Given the description of an element on the screen output the (x, y) to click on. 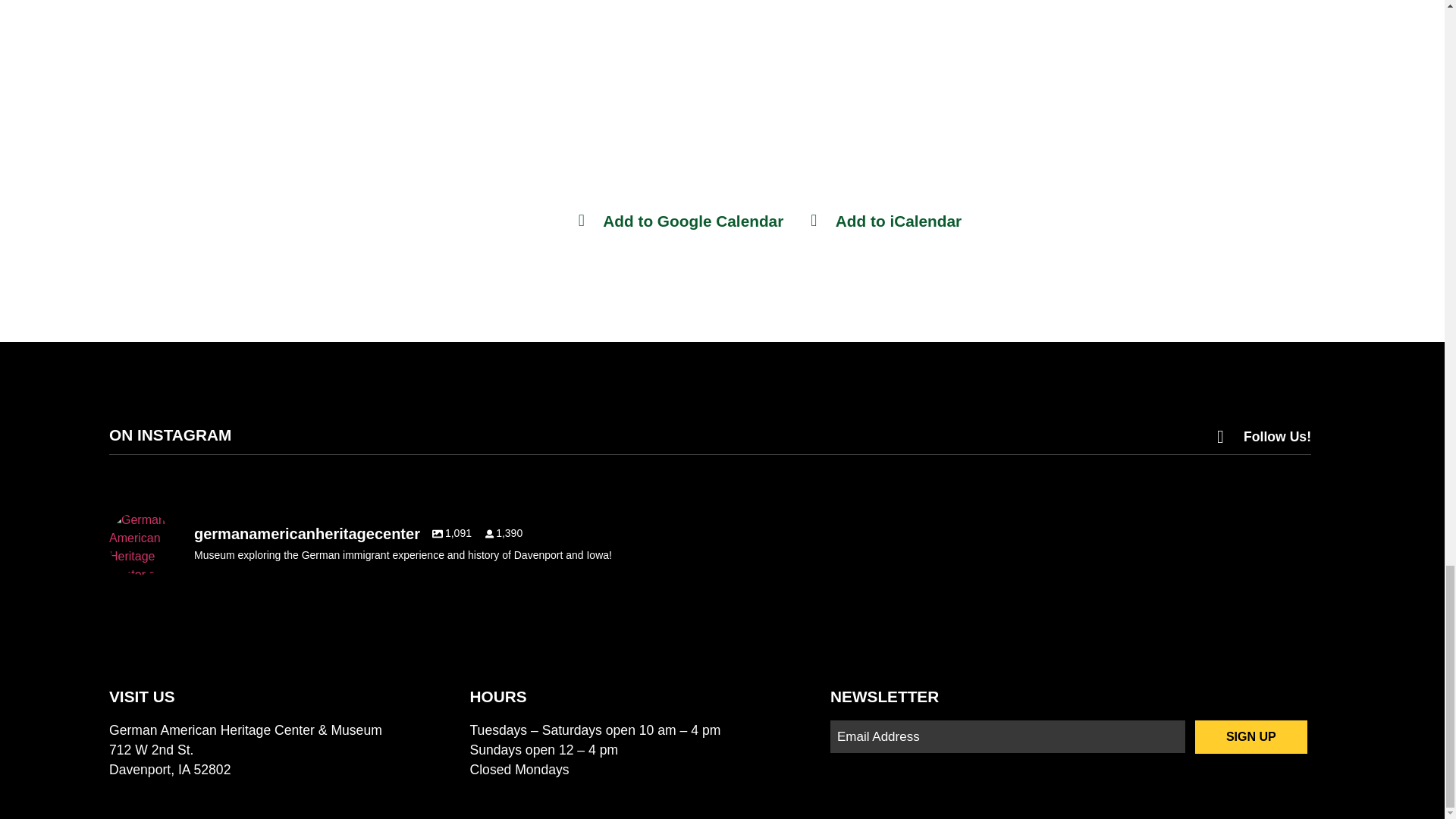
Sign Up (1251, 736)
